Given the description of an element on the screen output the (x, y) to click on. 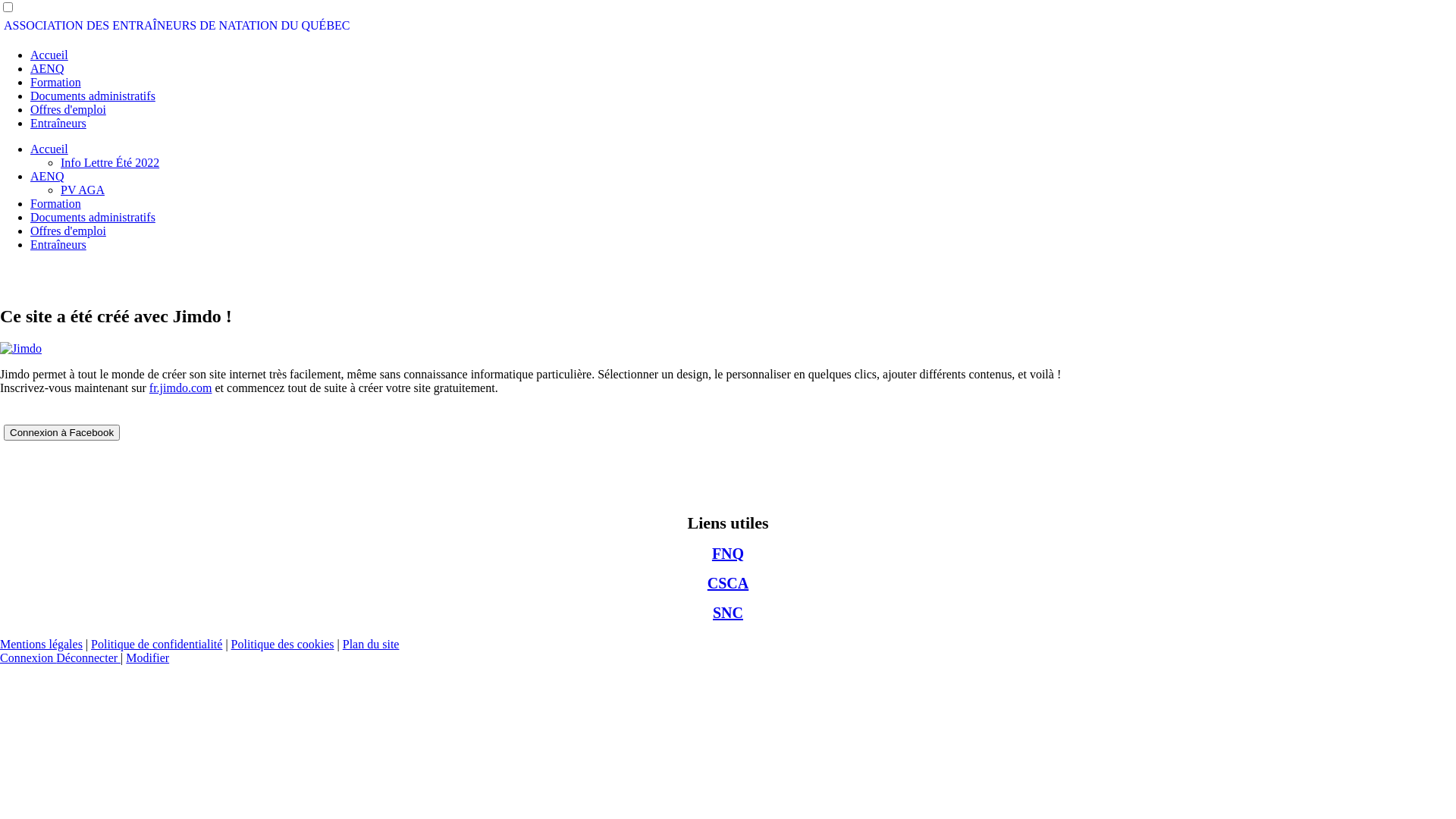
Politique des cookies Element type: text (282, 643)
fr.jimdo.com Element type: text (180, 387)
Offres d'emploi Element type: text (68, 230)
Accueil Element type: text (49, 148)
AENQ Element type: text (46, 68)
CSCA Element type: text (727, 582)
Formation Element type: text (55, 203)
Documents administratifs Element type: text (92, 216)
Connexion Element type: text (28, 657)
Accueil Element type: text (49, 54)
Modifier Element type: text (147, 657)
Jimdo Element type: hover (20, 348)
Offres d'emploi Element type: text (68, 109)
SNC Element type: text (727, 612)
Plan du site Element type: text (370, 643)
AENQ Element type: text (46, 175)
Documents administratifs Element type: text (92, 95)
FNQ Element type: text (727, 553)
PV AGA Element type: text (82, 189)
Formation Element type: text (55, 81)
